Given the description of an element on the screen output the (x, y) to click on. 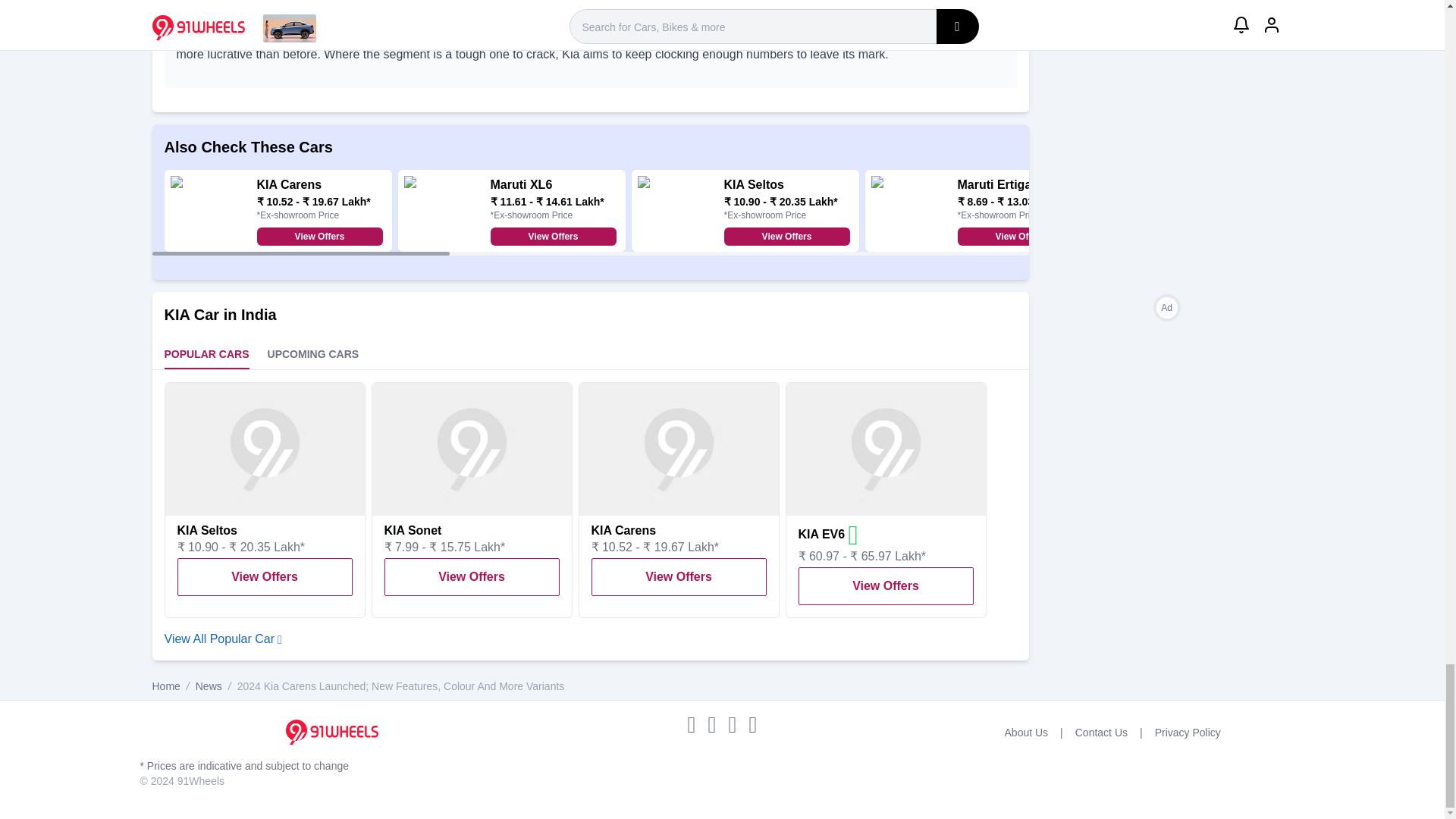
View Offers (785, 236)
Maruti XL6 (520, 184)
View Offers (552, 236)
KIA Carens (288, 184)
View Offers (1253, 236)
View Offers (318, 236)
Maruti Ertiga (993, 184)
Hyundai Alcazar (1237, 184)
KIA Seltos (753, 184)
View Offers (1019, 236)
